Given the description of an element on the screen output the (x, y) to click on. 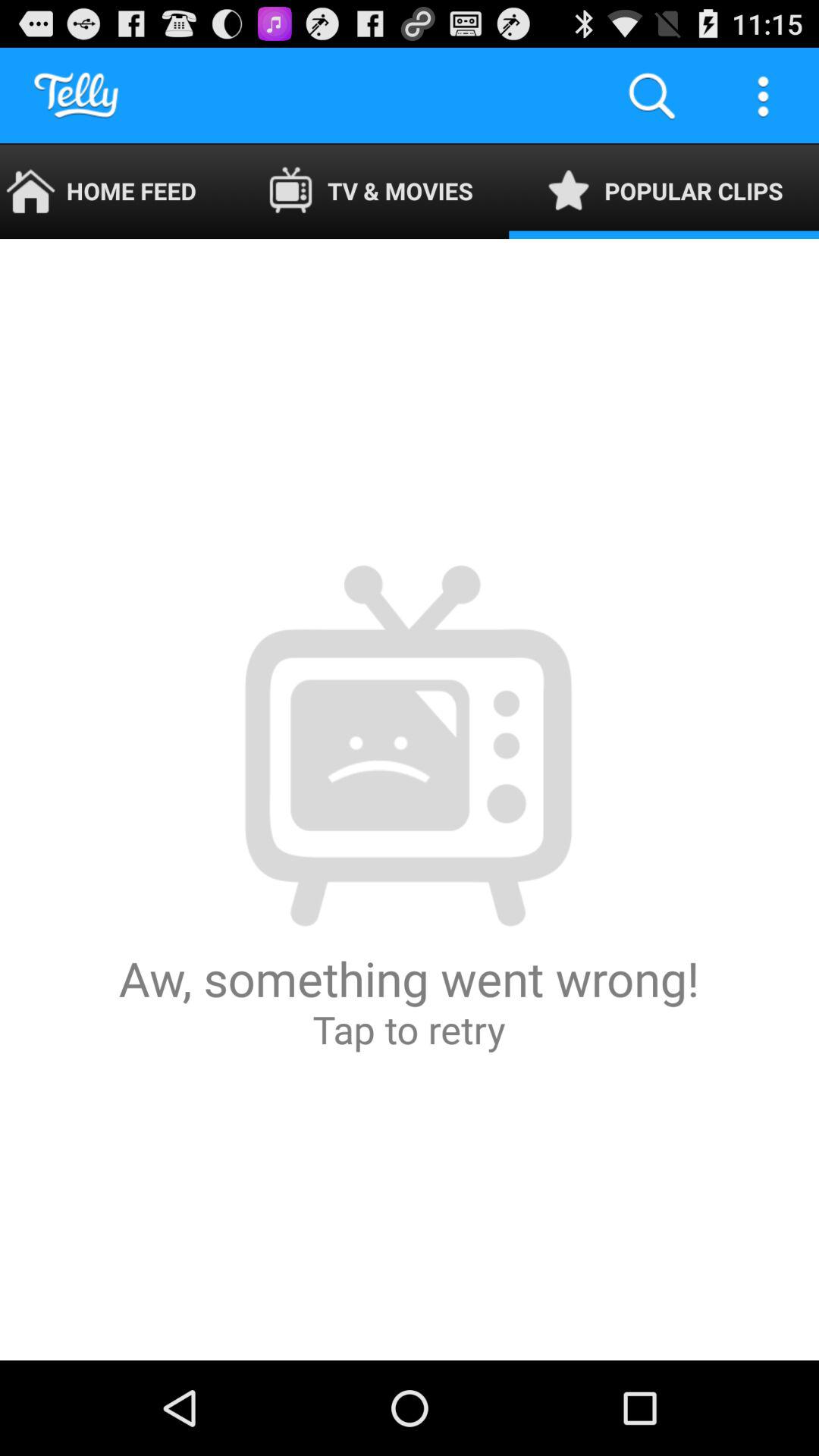
choose app to the left of popular clips (370, 190)
